Given the description of an element on the screen output the (x, y) to click on. 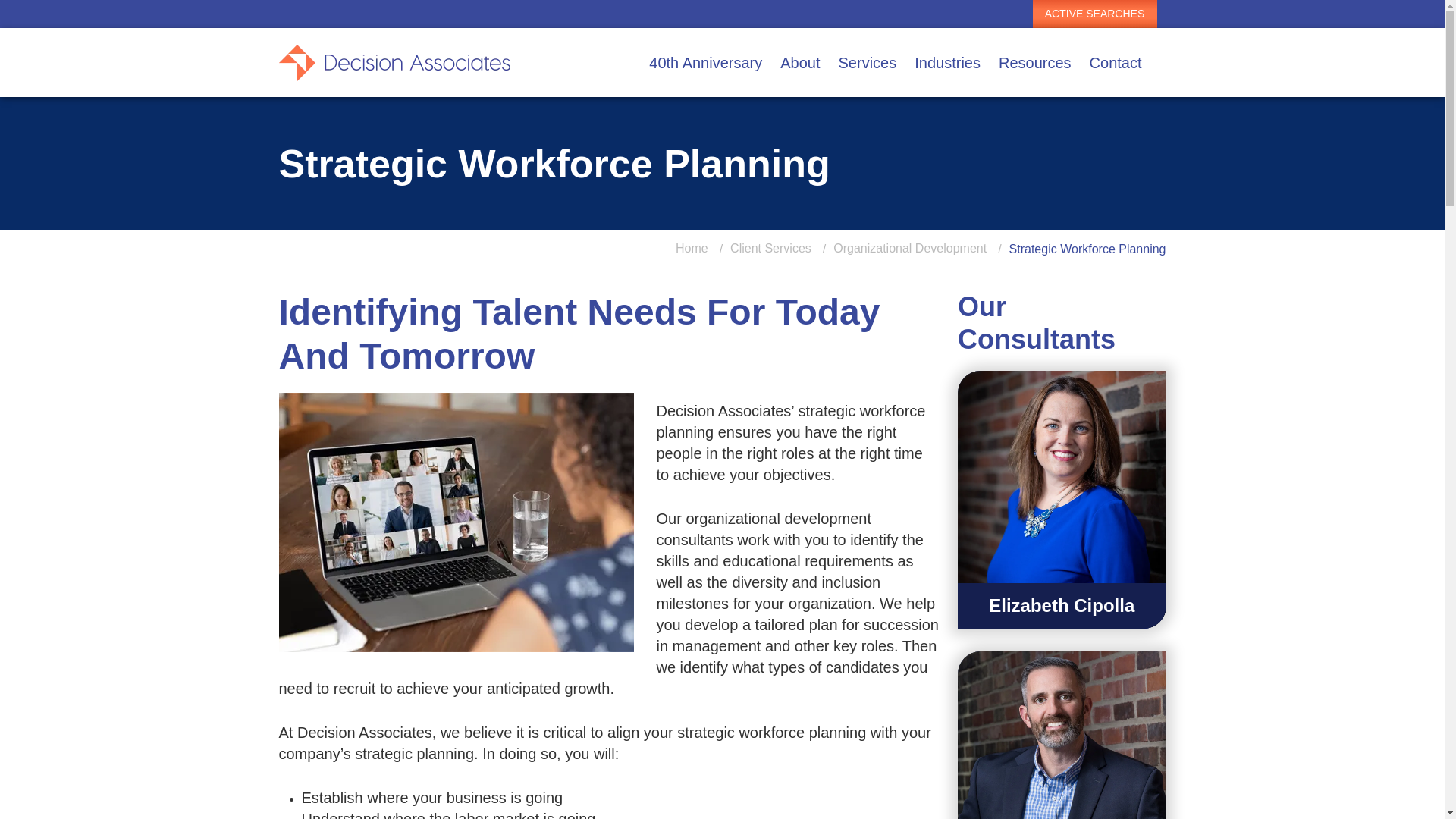
Aaron Phillips (1062, 735)
Contact (1115, 62)
Client Services (770, 248)
Services (867, 62)
Organizational Development (909, 248)
ACTIVE SEARCHES (1094, 13)
Industries (947, 62)
40th Anniversary (705, 62)
Home (691, 248)
Resources (1035, 62)
